Given the description of an element on the screen output the (x, y) to click on. 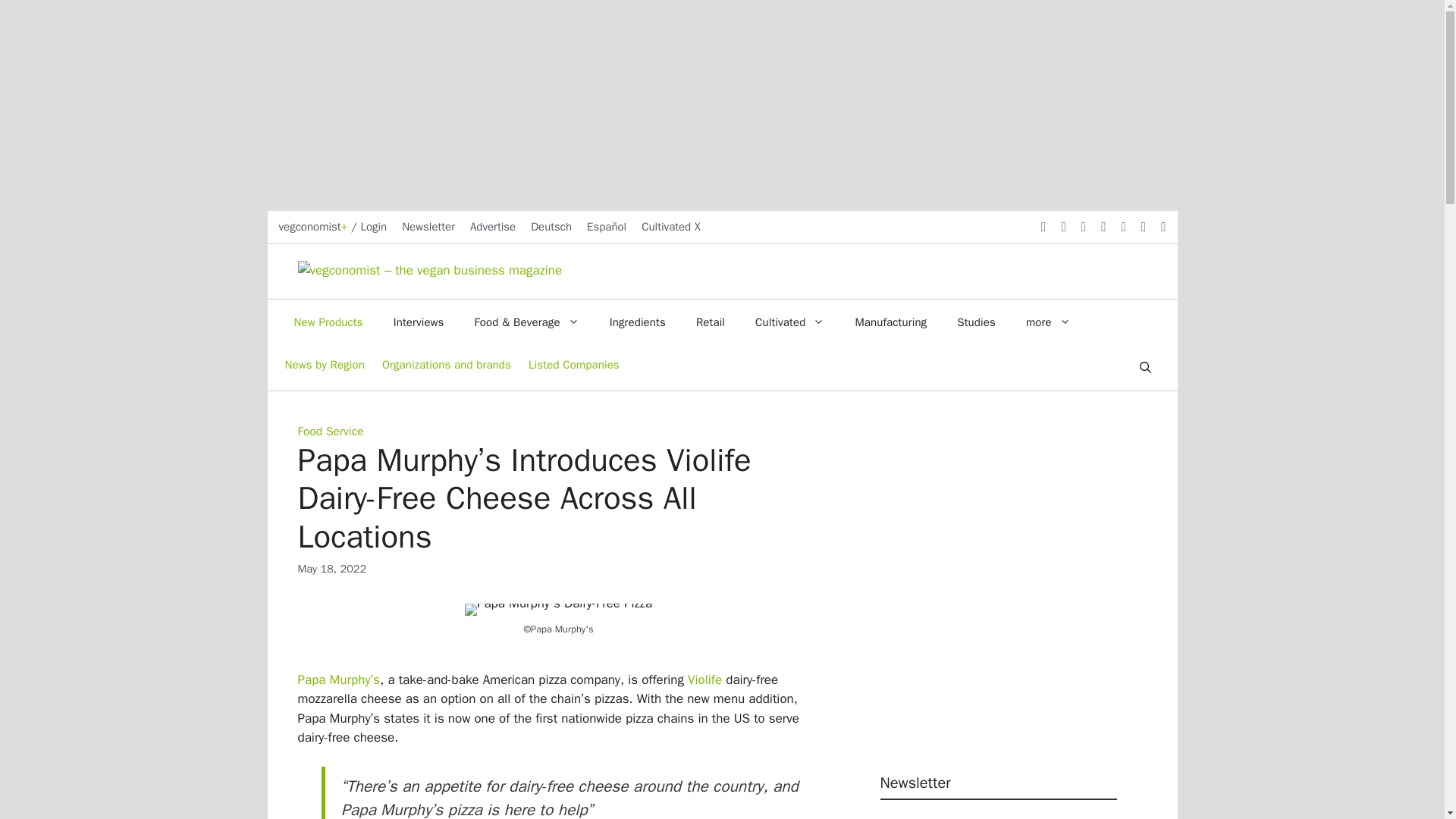
Ingredients (637, 321)
more (1048, 321)
Retail (710, 321)
Interviews (419, 321)
Advertise (492, 226)
Cultivated X (671, 226)
Manufacturing (891, 321)
Newsletter (427, 226)
Deutsch (551, 226)
Studies (976, 321)
New Products (328, 321)
Cultivated (789, 321)
